Given the description of an element on the screen output the (x, y) to click on. 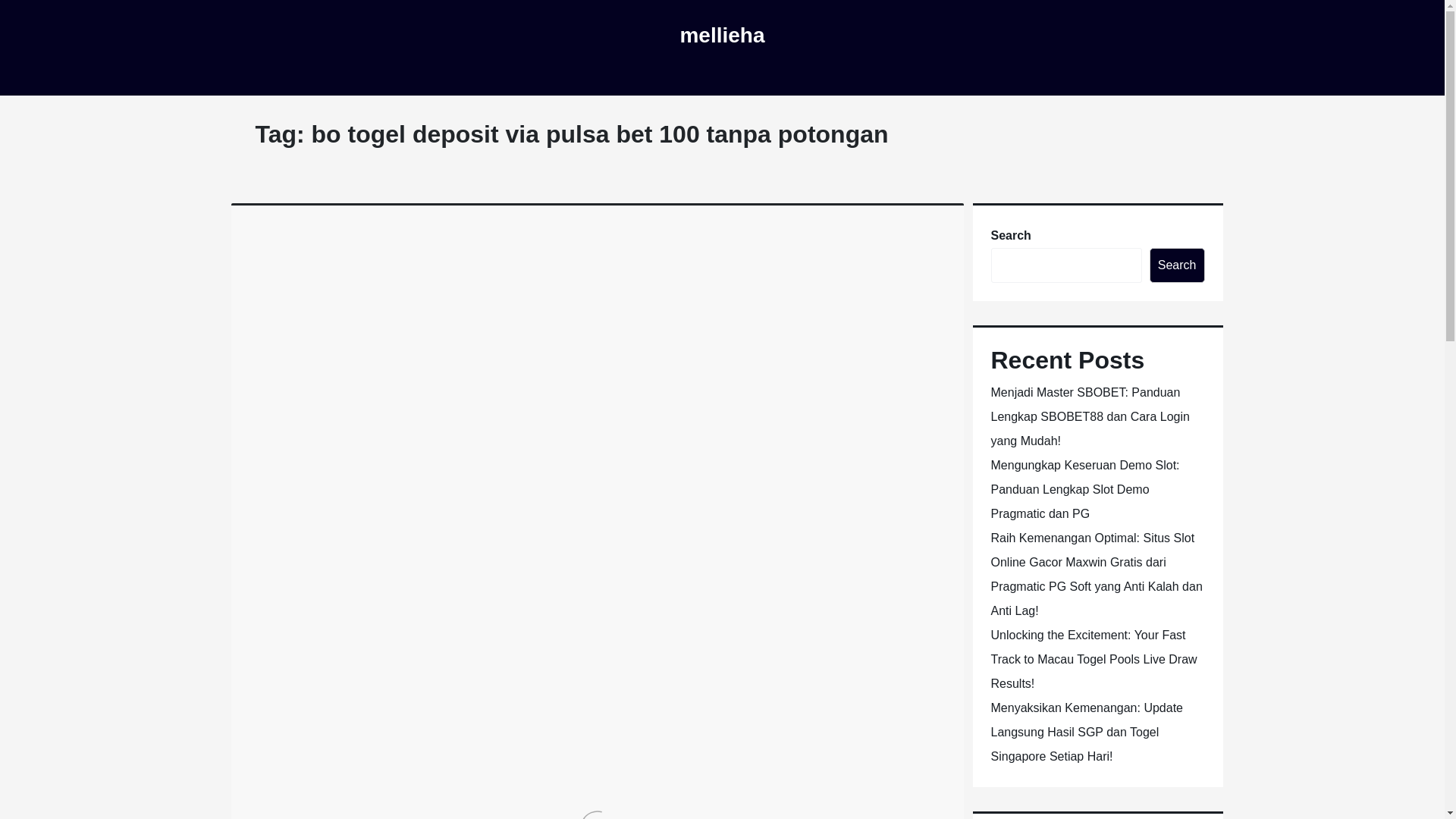
gambling (597, 280)
niningficka (531, 280)
mellieha (721, 34)
Search (1177, 265)
How to Choose an Online Lottery Website (500, 244)
